Given the description of an element on the screen output the (x, y) to click on. 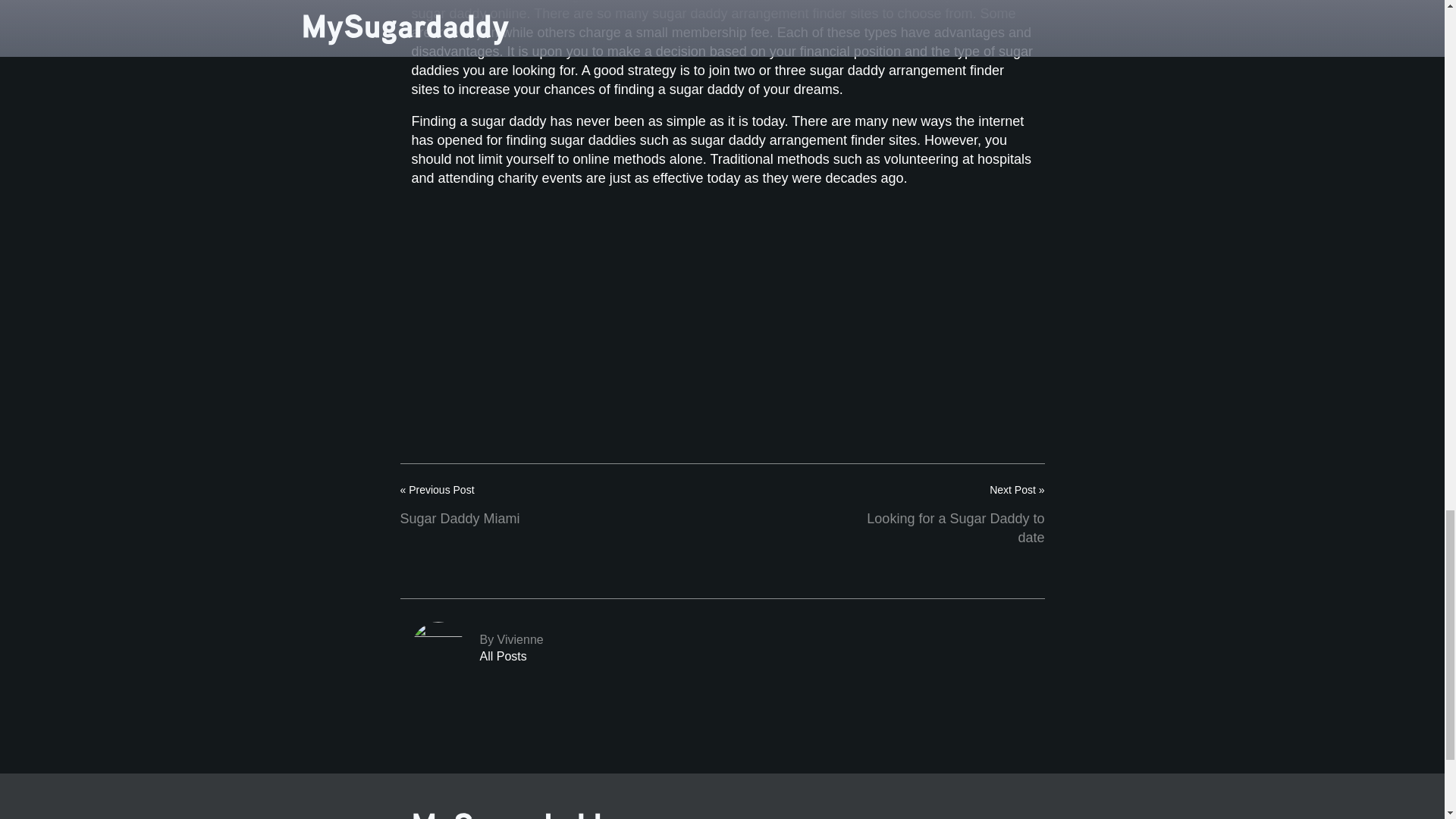
sugar daddy arrangement (789, 140)
Video Player (574, 291)
Vivienne (721, 647)
sugar daddy arrangement finder (789, 140)
